Given the description of an element on the screen output the (x, y) to click on. 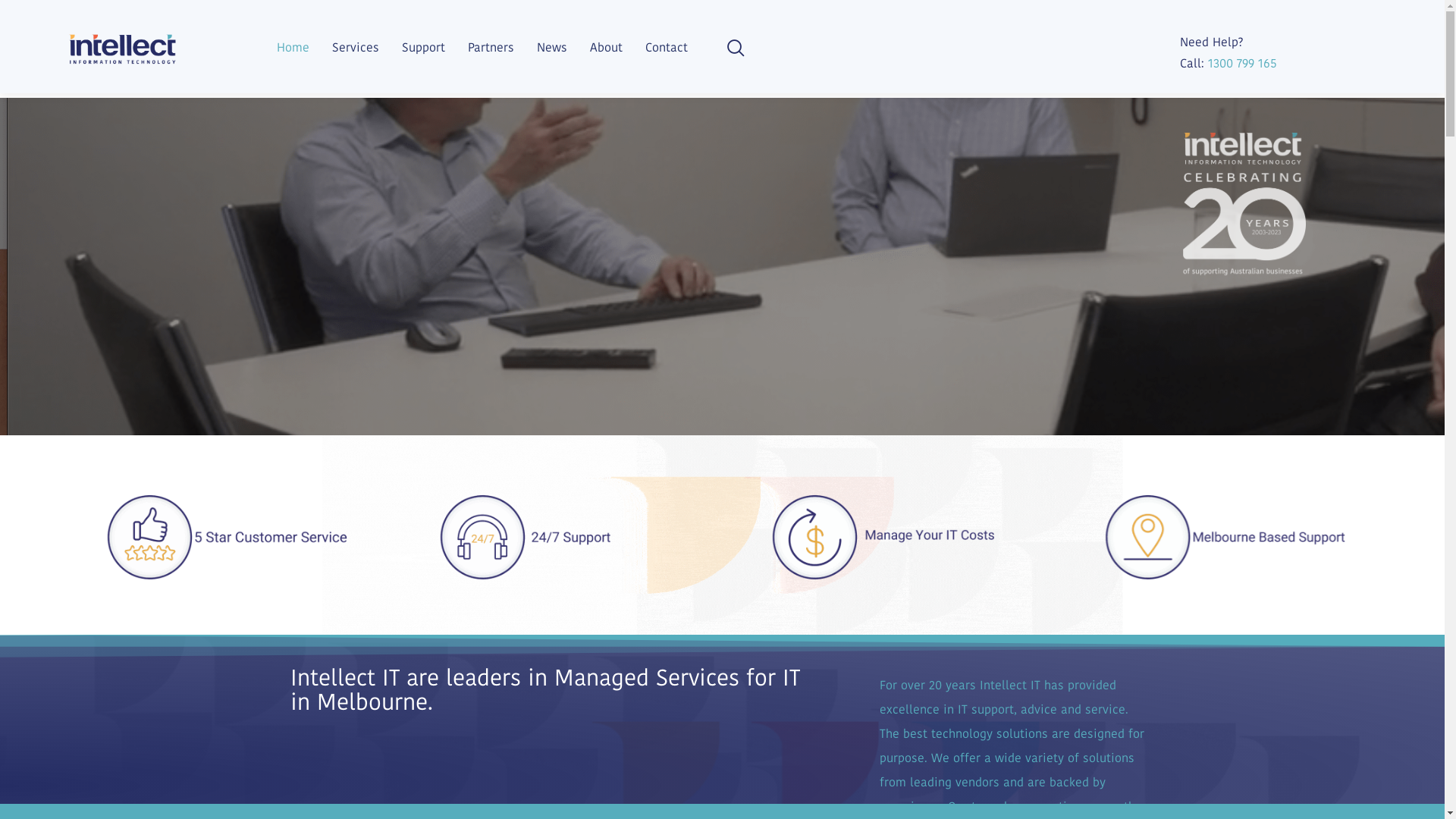
Services Element type: text (355, 46)
1300 799 165 Element type: text (1242, 63)
Home Element type: text (292, 46)
Search Button Element type: text (1430, 13)
News Element type: text (551, 46)
Support Element type: text (423, 46)
About Element type: text (605, 46)
Partners Element type: text (490, 46)
Contact Element type: text (666, 46)
